Given the description of an element on the screen output the (x, y) to click on. 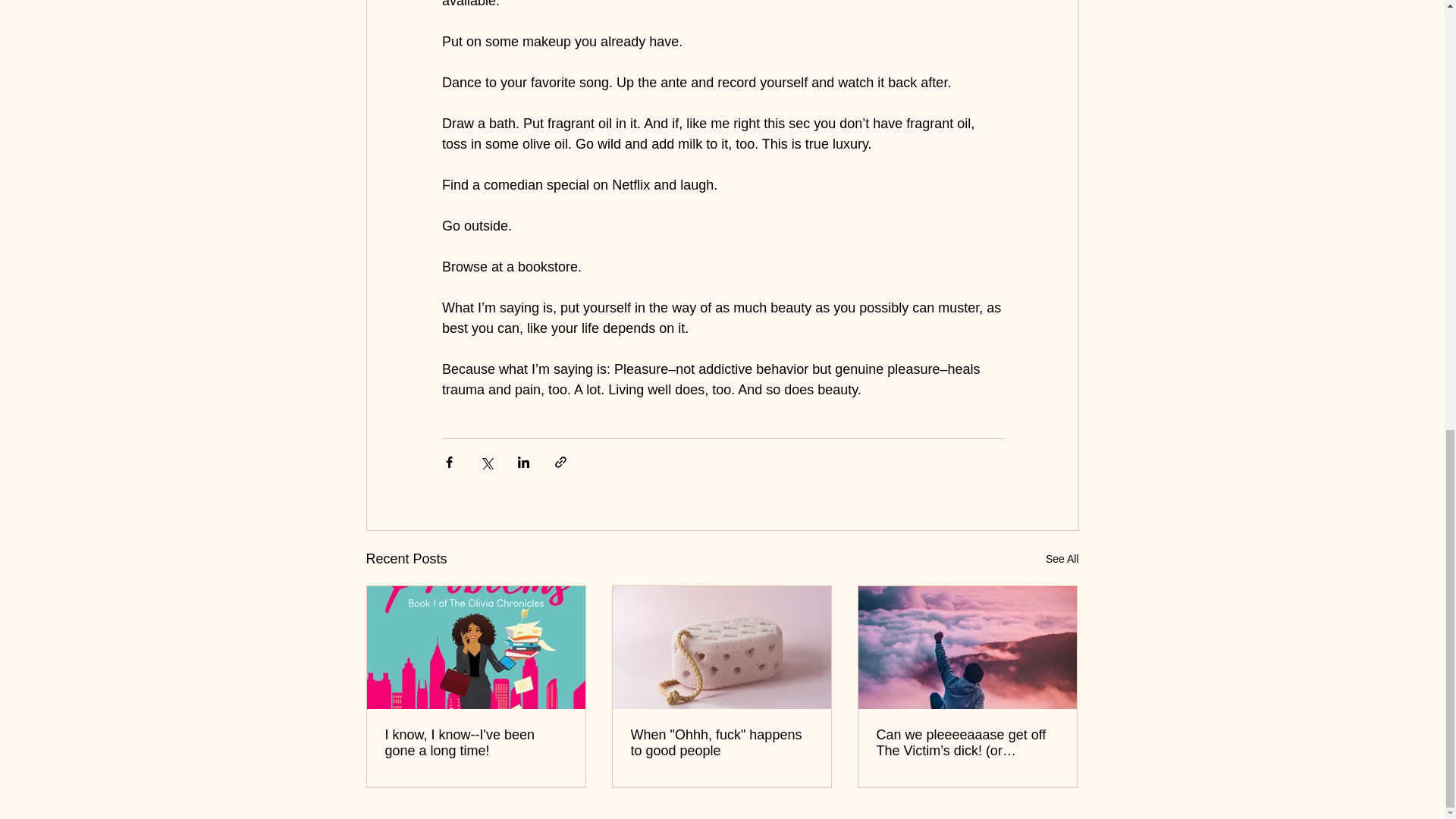
When "Ohhh, fuck" happens to good people (721, 743)
I know, I know--I've been gone a long time! (476, 743)
See All (1061, 558)
